Given the description of an element on the screen output the (x, y) to click on. 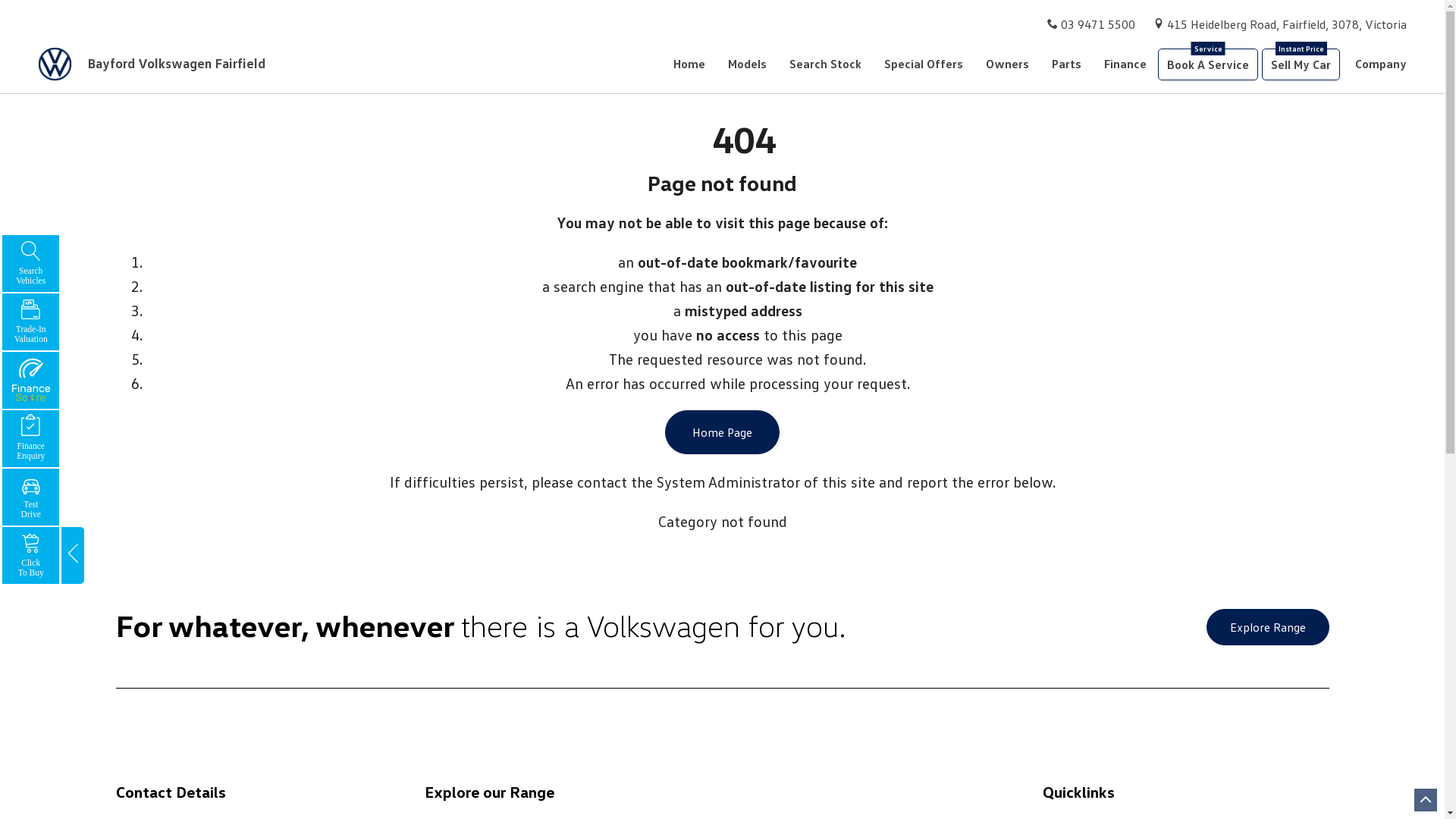
Home Page Element type: text (722, 432)
03 9471 5500 Element type: text (1097, 23)
Sell My Car Element type: text (1300, 64)
Search
Vehicles Element type: text (30, 263)
415 Heidelberg Road, Fairfield, 3078, Victoria Element type: text (1286, 23)
Search Stock Element type: text (825, 63)
Finance
Enquiry Element type: text (30, 438)
Company Element type: text (1374, 63)
Special Offers Element type: text (923, 63)
Explore Range Element type: text (1266, 626)
Bayford Volkswagen Fairfield Element type: text (158, 64)
Owners Element type: text (1007, 63)
Trade-In
Valuation Element type: text (30, 321)
Finance Element type: text (1124, 63)
Book A Service Element type: text (1207, 64)
Click
To Buy Element type: text (30, 555)
Parts Element type: text (1066, 63)
Home Element type: text (694, 63)
Models Element type: text (747, 63)
Test
Drive Element type: text (30, 496)
